Given the description of an element on the screen output the (x, y) to click on. 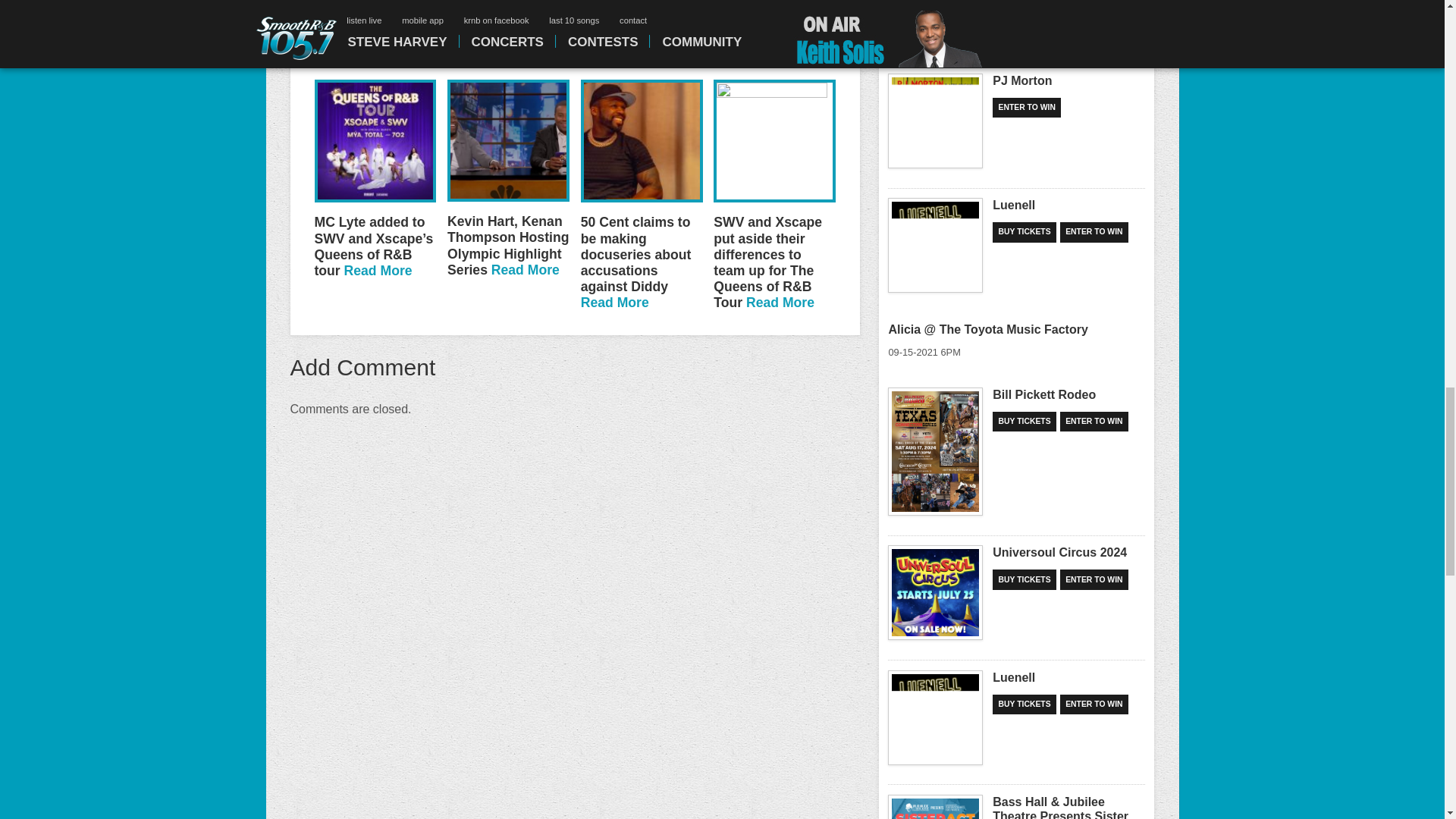
PJ Morton (935, 120)
Luenell (935, 245)
The Roots (935, 22)
